Given the description of an element on the screen output the (x, y) to click on. 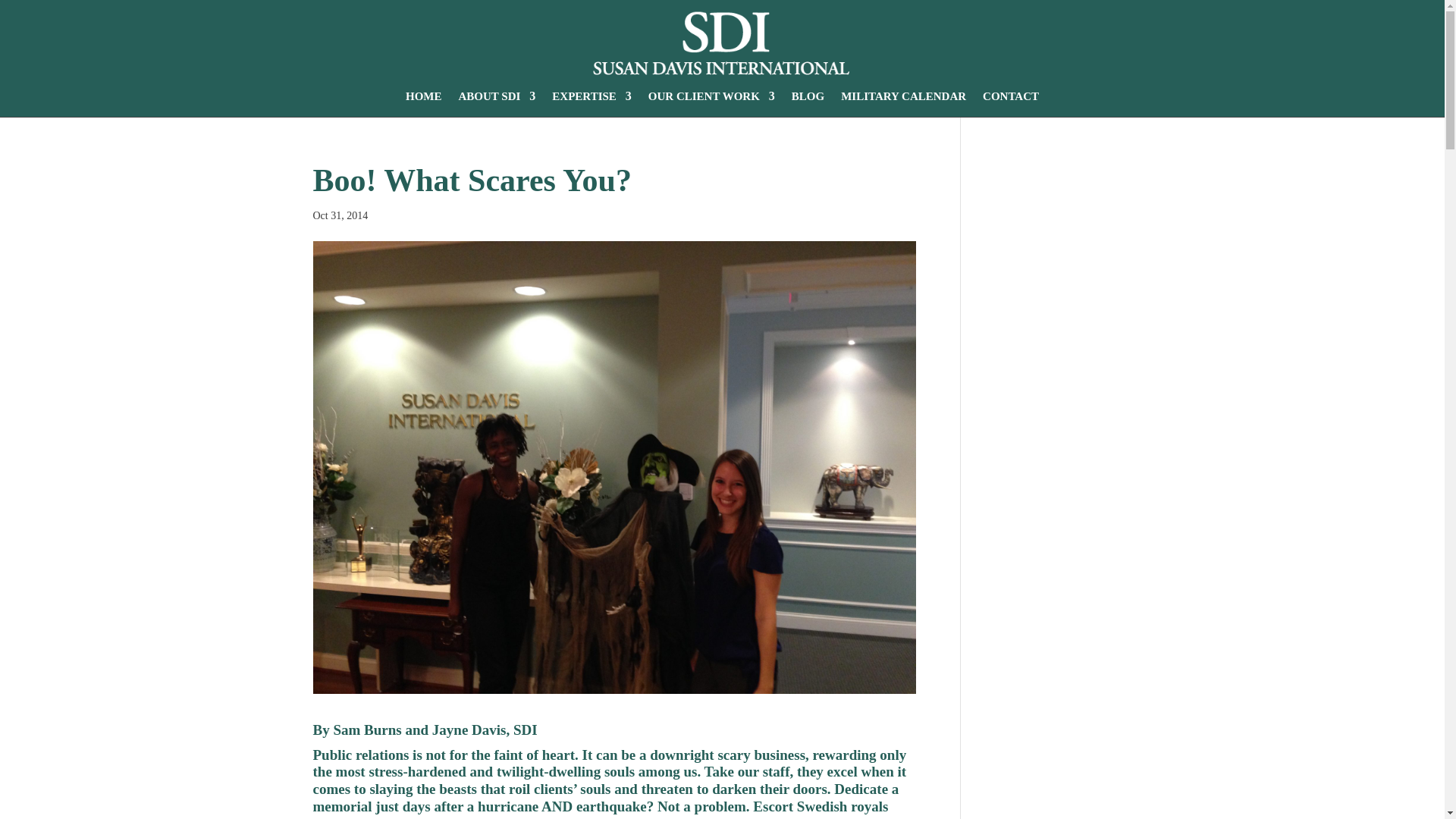
ABOUT SDI (496, 95)
CONTACT (1010, 95)
BLOG (808, 95)
HOME (424, 95)
OUR CLIENT WORK (710, 95)
MILITARY CALENDAR (903, 95)
EXPERTISE (591, 95)
